Given the description of an element on the screen output the (x, y) to click on. 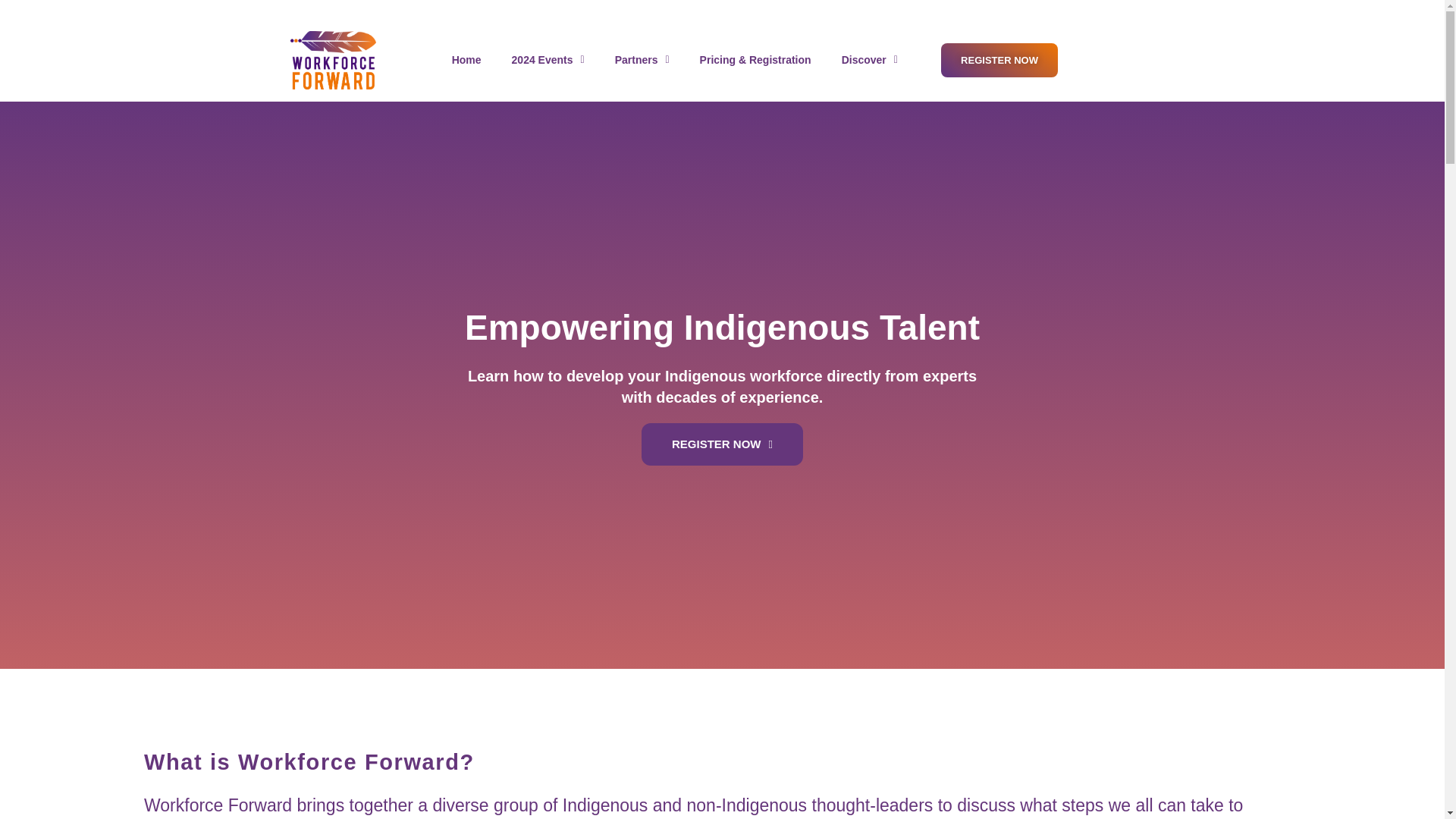
Discover (869, 60)
Partners (641, 60)
2024 Events (548, 60)
Home (466, 60)
